Given the description of an element on the screen output the (x, y) to click on. 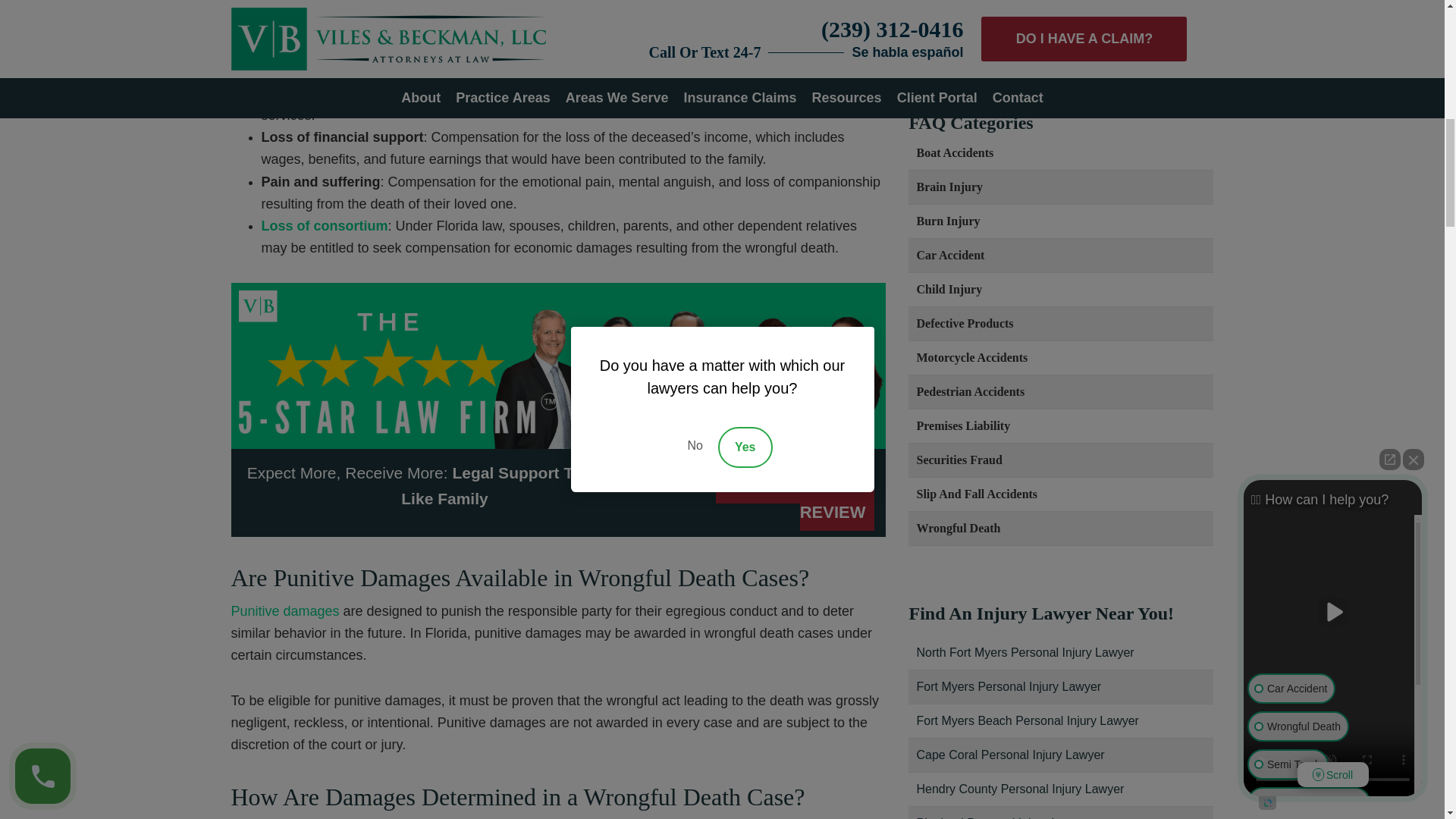
Get Consulation (1060, 33)
